Given the description of an element on the screen output the (x, y) to click on. 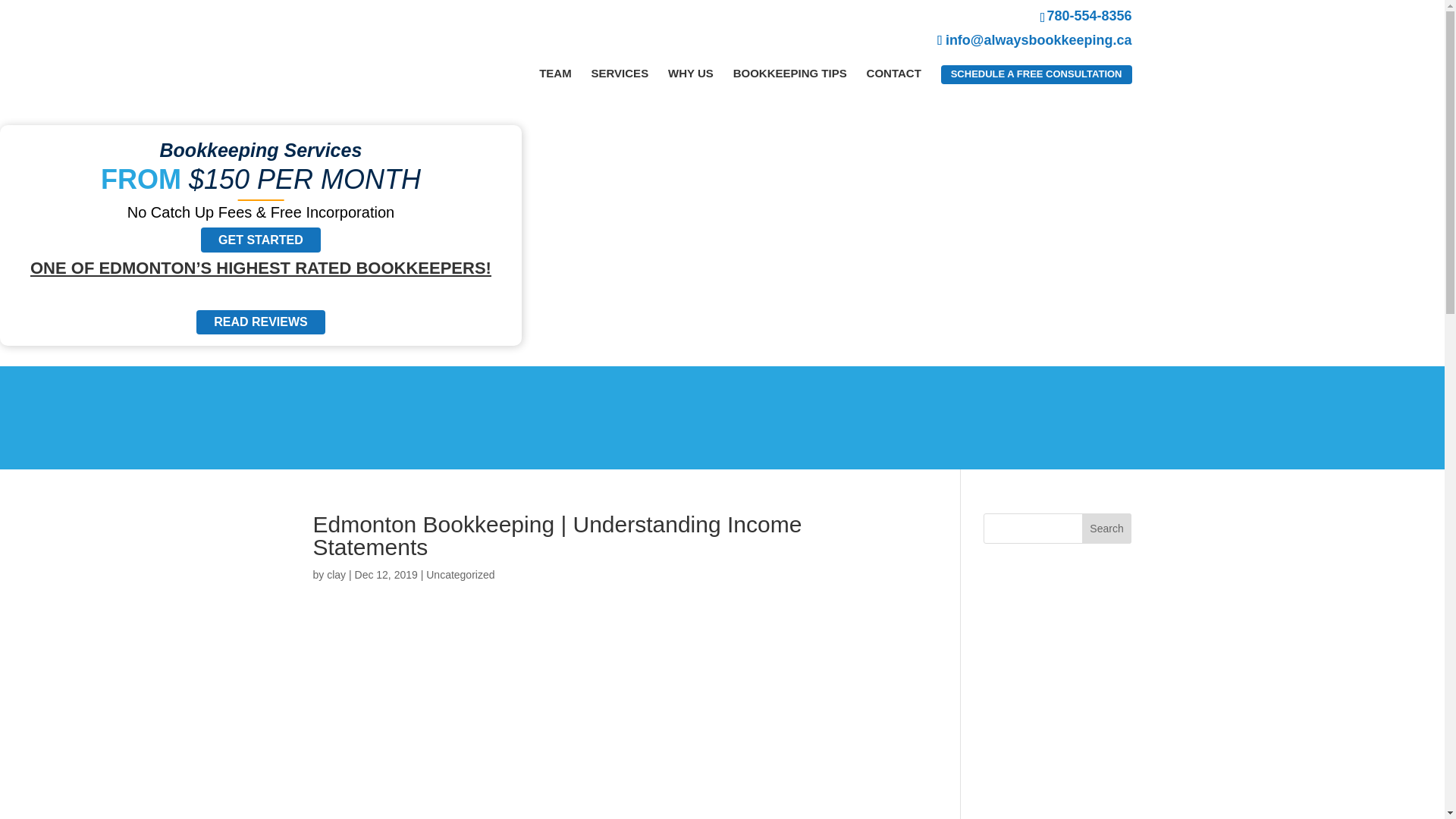
READ REVIEWS (260, 322)
Posts by clay (336, 574)
CONTACT (893, 72)
Search (1106, 528)
Search (1106, 528)
WHY US (690, 72)
TEAM (555, 72)
BOOKKEEPING TIPS (790, 72)
SCHEDULE A FREE CONSULTATION (1036, 74)
780-554-8356 (885, 15)
SERVICES (620, 72)
GET STARTED (260, 239)
clay (336, 574)
